Given the description of an element on the screen output the (x, y) to click on. 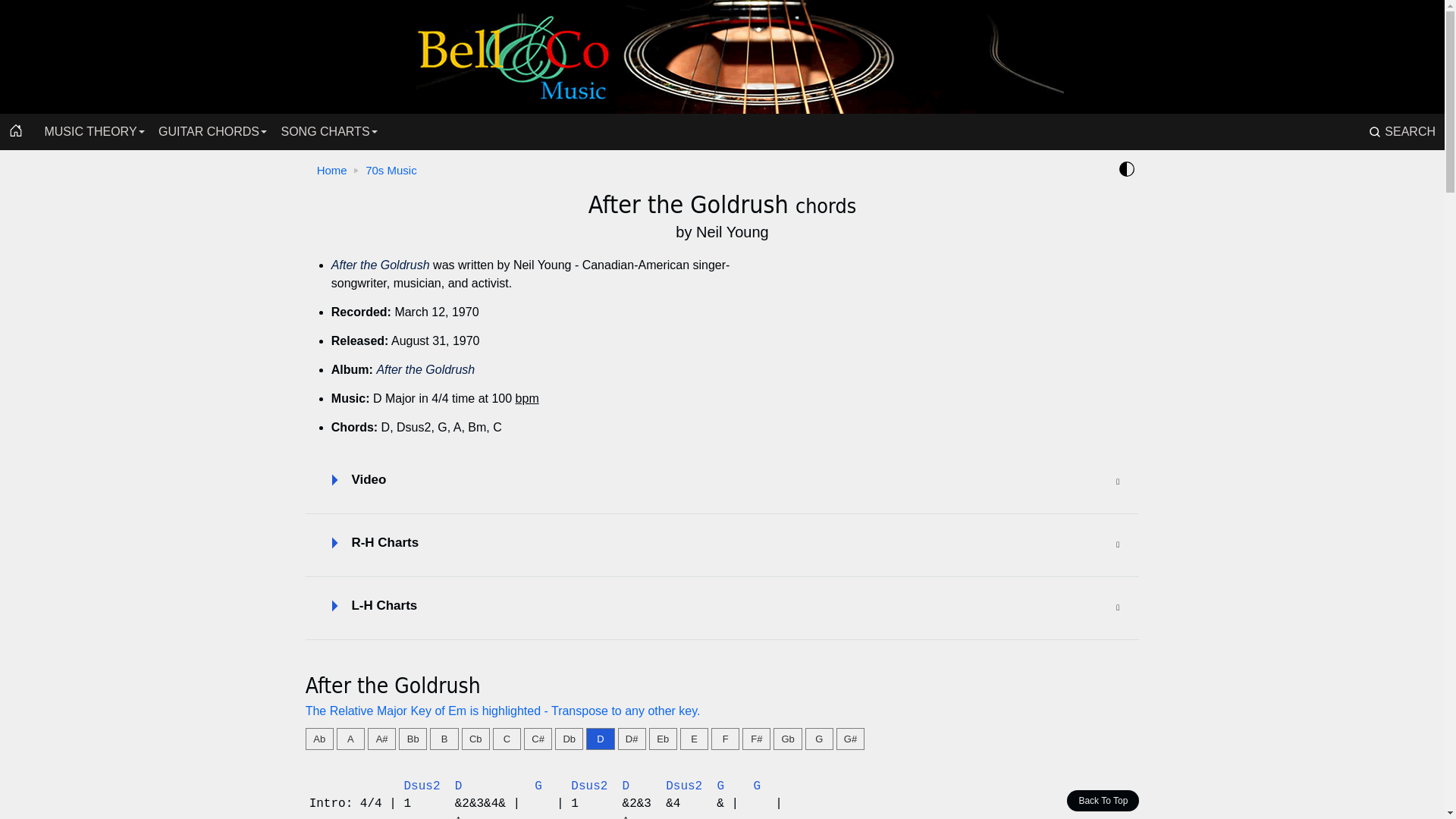
SONG CHARTS (324, 131)
Bb (412, 739)
R-H Charts (722, 545)
Home (16, 131)
Video (722, 482)
Ab (319, 739)
MUSIC THEORY (89, 131)
B (443, 739)
Home (722, 56)
70s Music (394, 169)
